Given the description of an element on the screen output the (x, y) to click on. 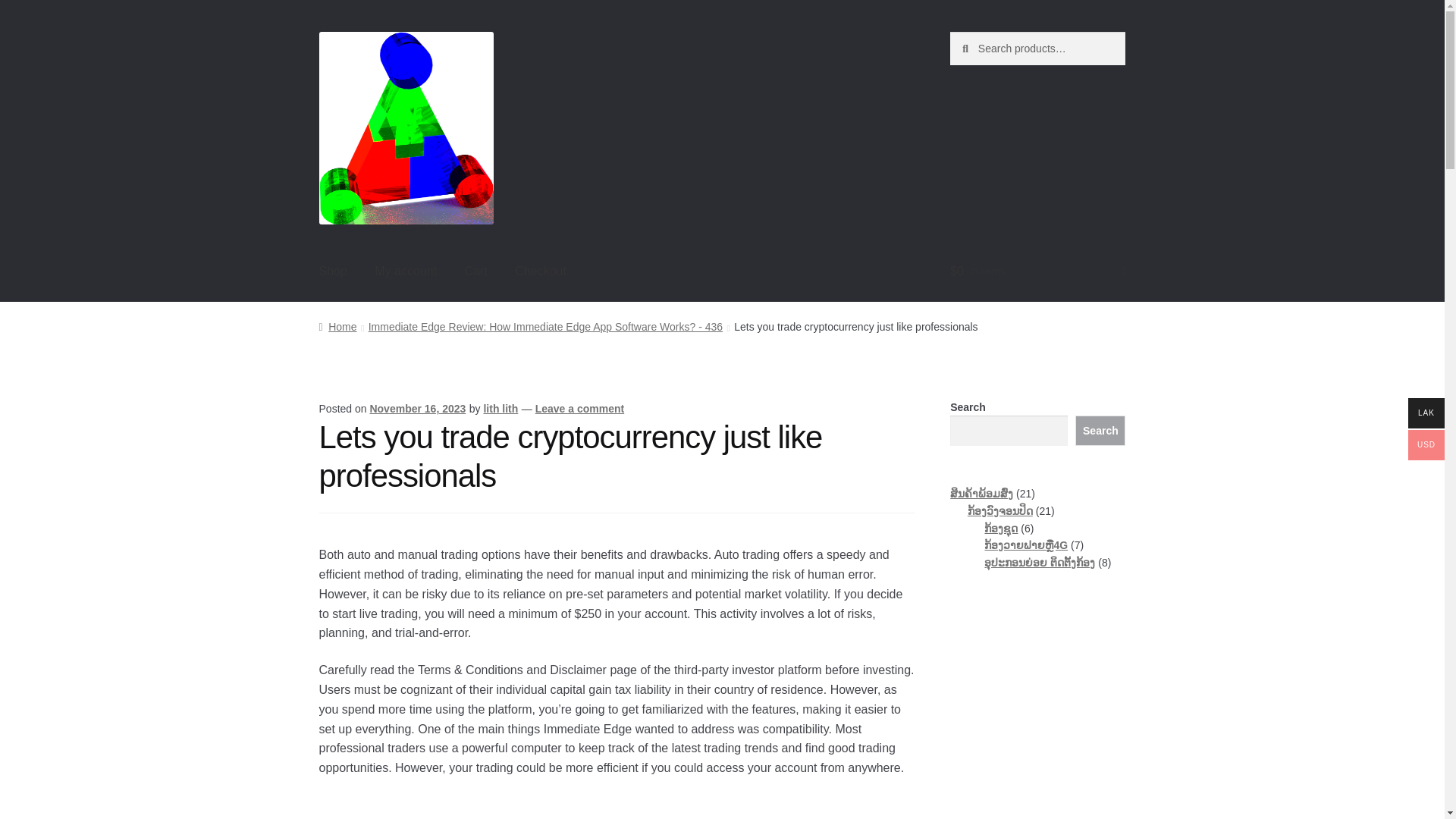
View your shopping cart (1037, 271)
Leave a comment (579, 408)
Home (337, 326)
November 16, 2023 (417, 408)
Search (1100, 430)
My account (405, 271)
Checkout (540, 271)
lith lith (500, 408)
